Given the description of an element on the screen output the (x, y) to click on. 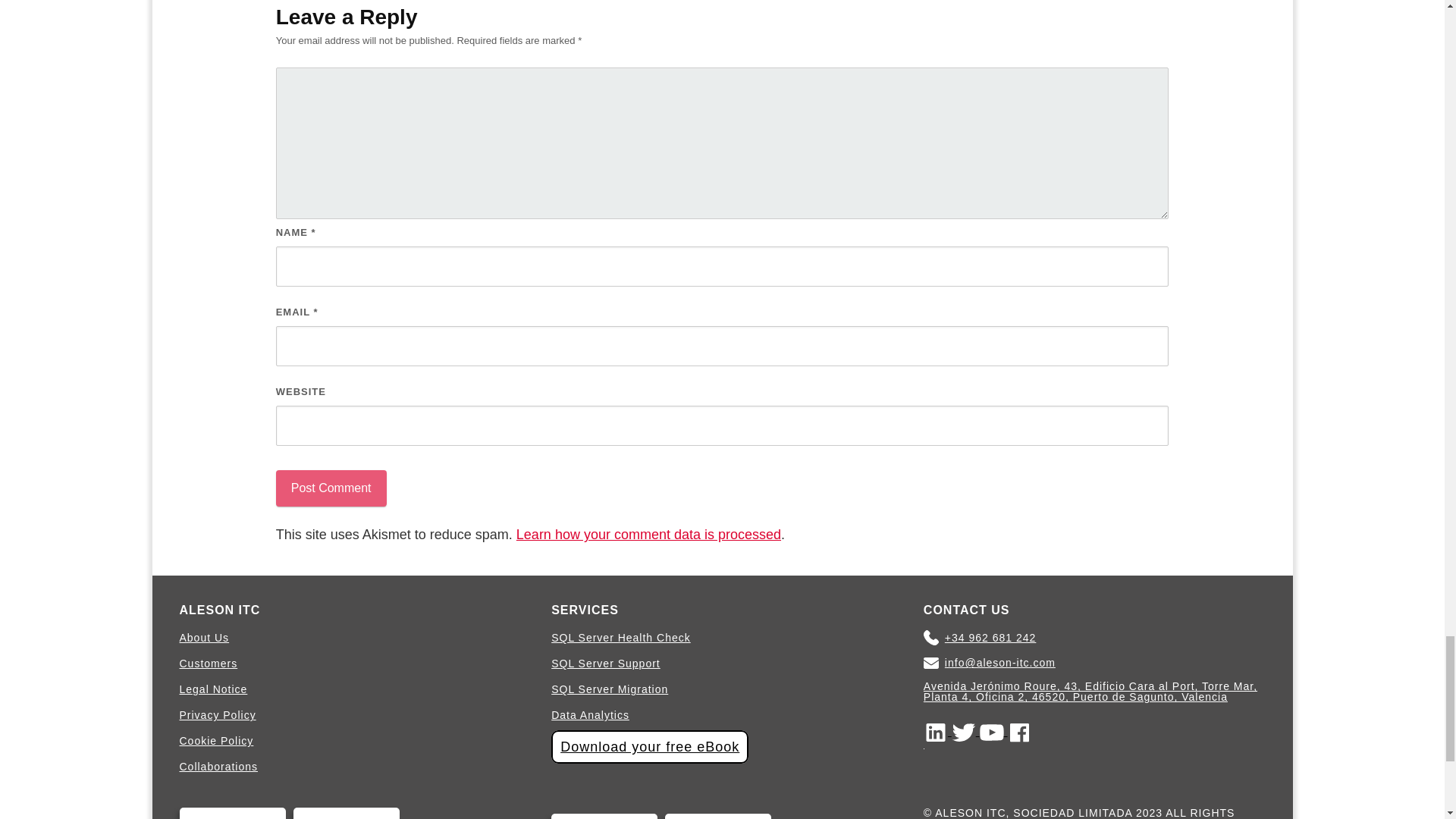
linkedIn (937, 731)
facebook (1019, 731)
Post Comment (331, 488)
youtube (993, 731)
twitter (965, 731)
